Given the description of an element on the screen output the (x, y) to click on. 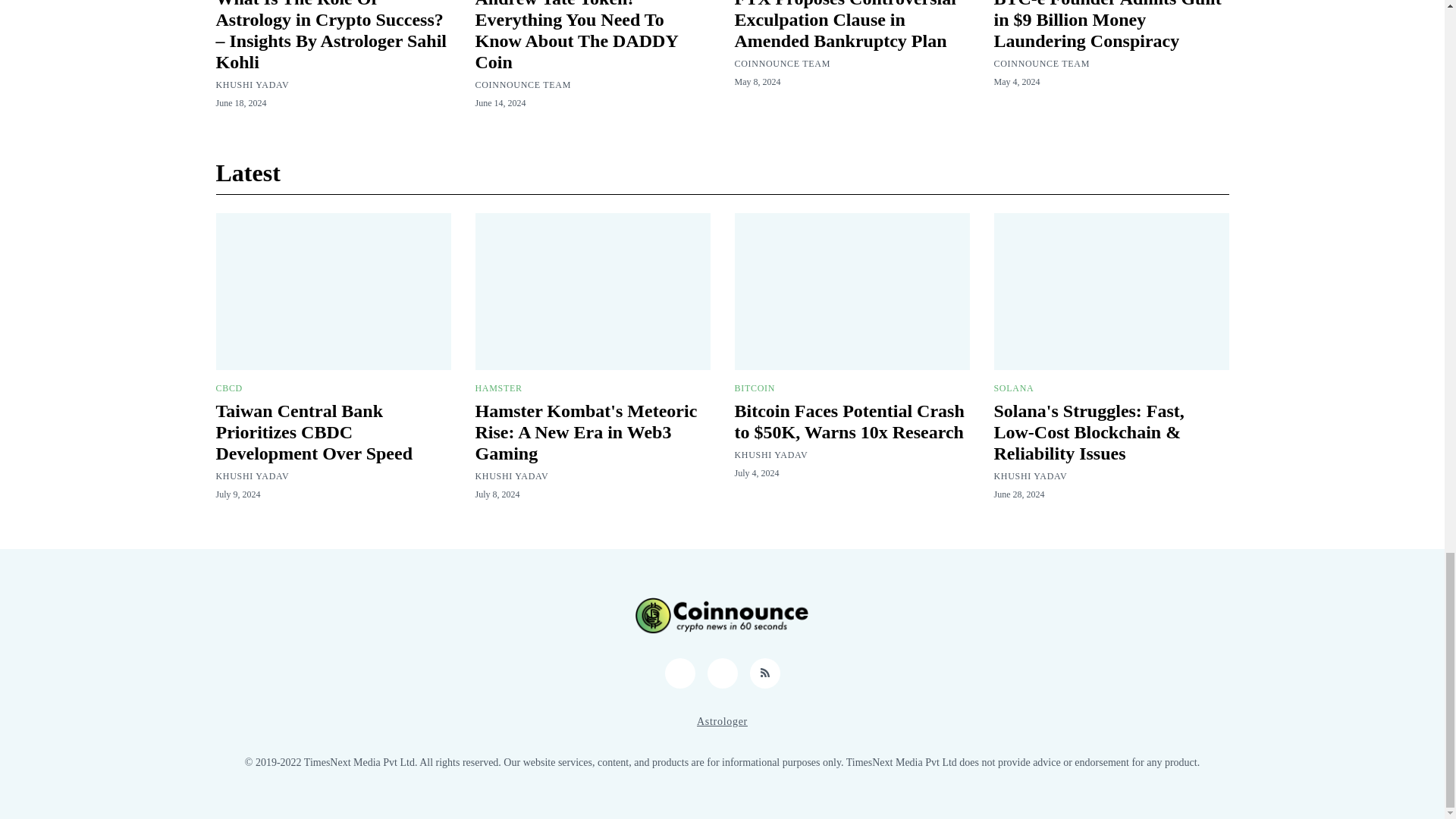
KHUSHI YADAV (251, 84)
COINNOUNCE TEAM (781, 63)
COINNOUNCE TEAM (522, 84)
